Given the description of an element on the screen output the (x, y) to click on. 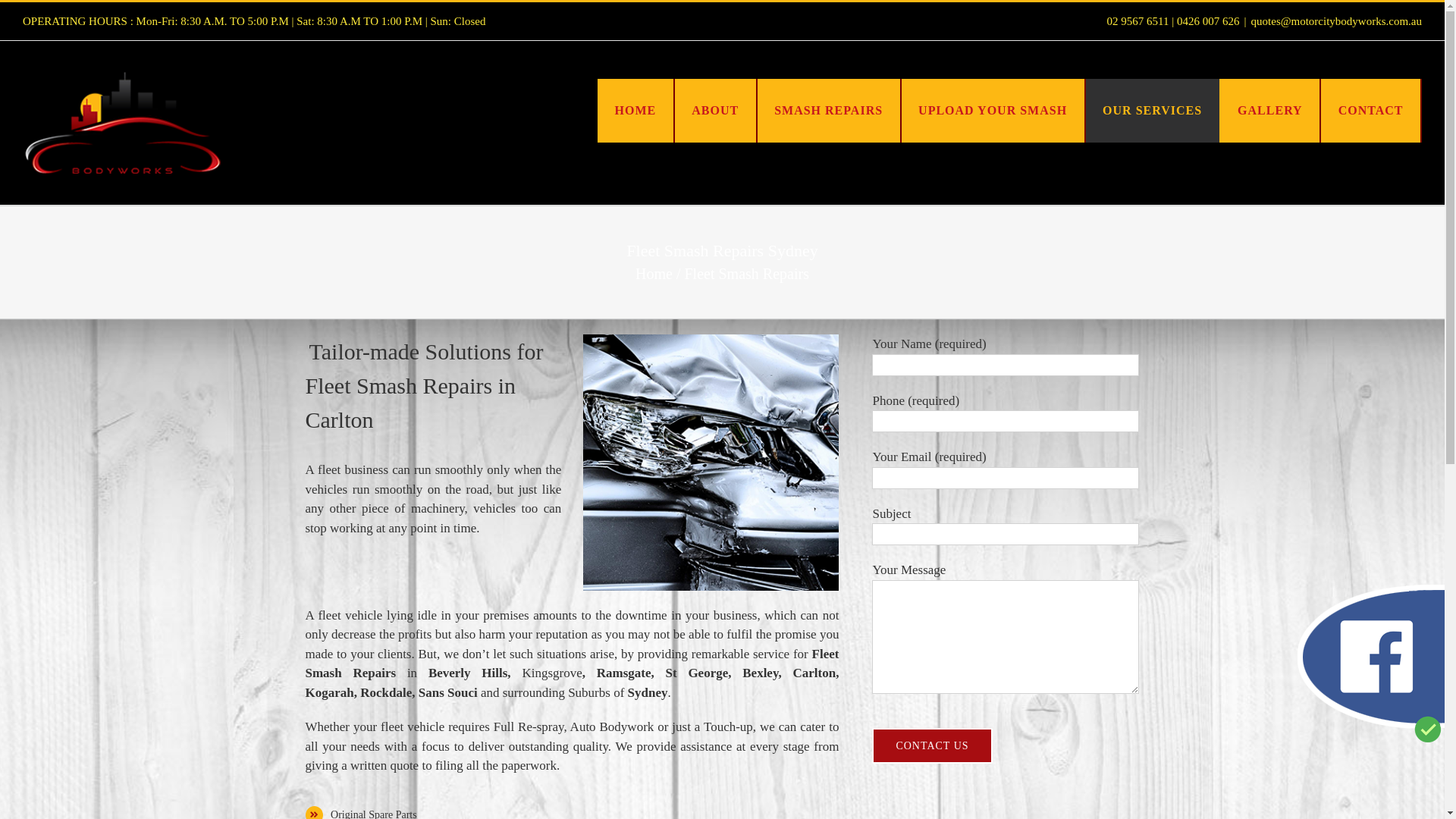
Contact Us Element type: text (931, 745)
ABOUT Element type: text (715, 110)
OUR SERVICES Element type: text (1152, 110)
SMASH REPAIRS Element type: text (829, 110)
0426 007 626 Element type: text (1207, 21)
02 9567 6511 Element type: text (1138, 21)
Home Element type: text (653, 273)
HOME Element type: text (635, 110)
fleet smash repairs Element type: hover (711, 462)
quotes@motorcitybodyworks.com.au Element type: text (1336, 21)
GALLERY Element type: text (1270, 110)
CONTACT Element type: text (1371, 110)
UPLOAD YOUR SMASH Element type: text (993, 110)
